Given the description of an element on the screen output the (x, y) to click on. 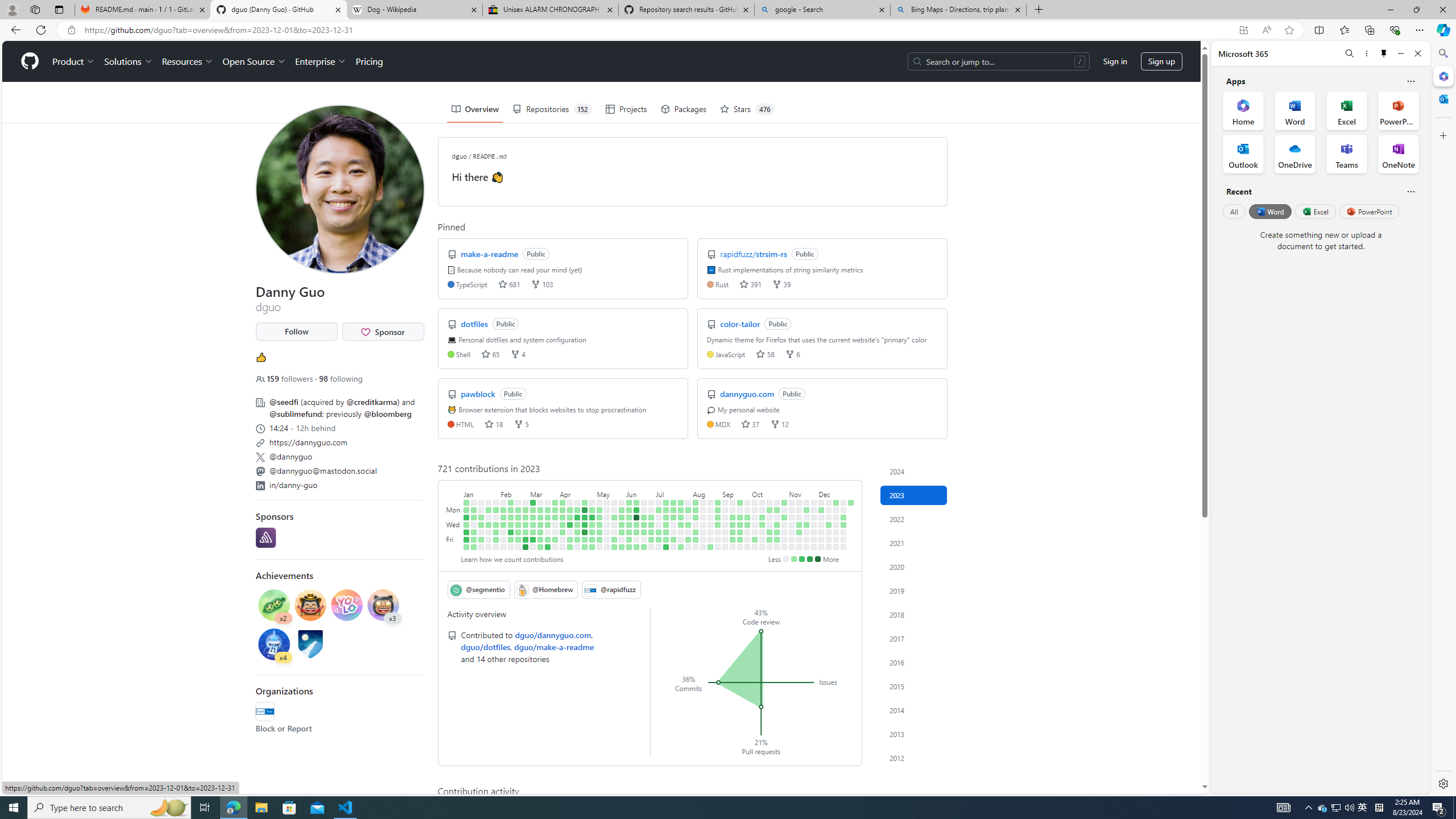
3 contributions on May 31st. (621, 524)
Resources (187, 60)
3 contributions on March 1st. (525, 524)
Open Source (254, 60)
View dguo's full-sized avatar (338, 188)
No contributions on November 26th. (813, 502)
Day of Week (454, 492)
3 contributions on April 29th. (585, 546)
Solutions (128, 60)
stars 58 (764, 353)
Achievement: Arctic Code Vault Contributor (310, 644)
Achievement: YOLO (346, 606)
No contributions on May 24th. (614, 524)
